Given the description of an element on the screen output the (x, y) to click on. 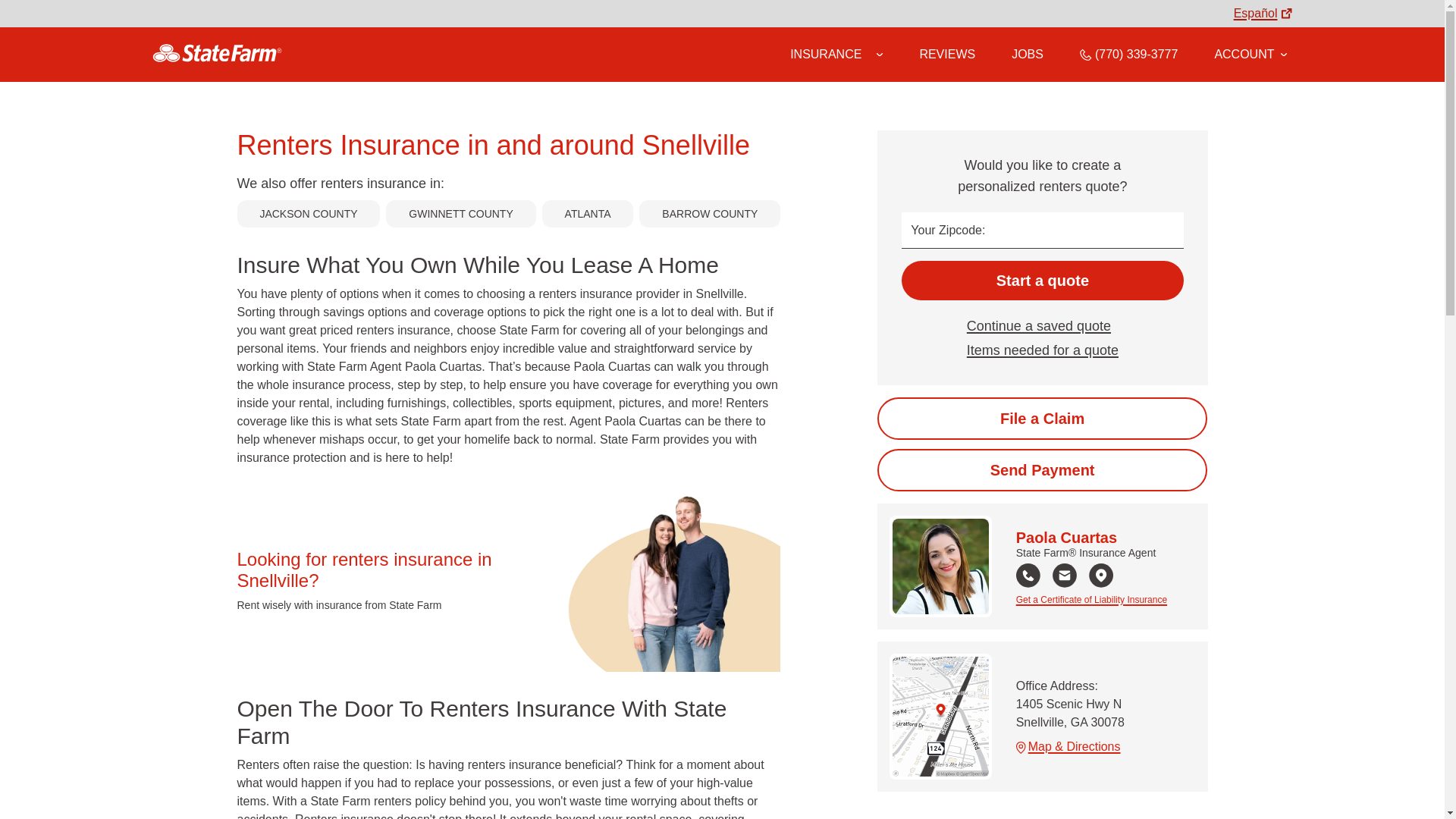
REVIEWS (946, 54)
Insurance (836, 54)
ACCOUNT (1250, 54)
JOBS (1027, 54)
INSURANCE (825, 54)
Account Options (1250, 54)
Start the claim process online (1042, 418)
